Given the description of an element on the screen output the (x, y) to click on. 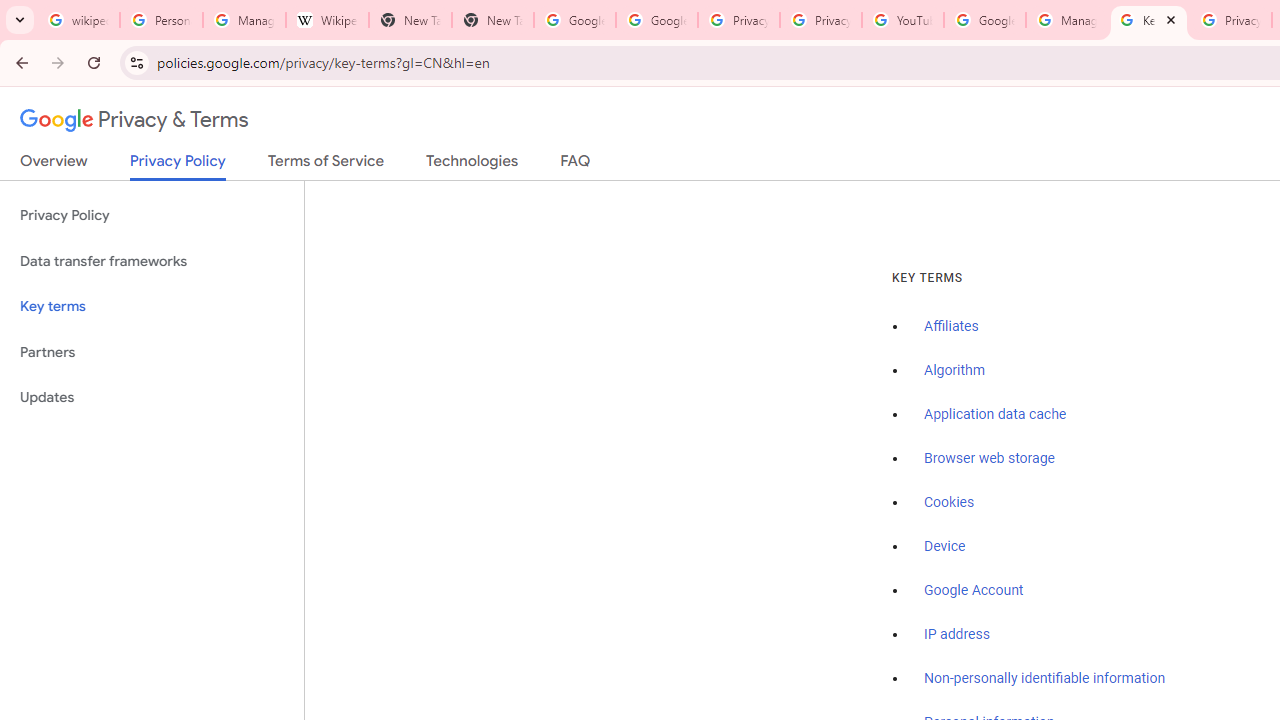
Browser web storage (989, 459)
Device (945, 546)
New Tab (409, 20)
Manage your Location History - Google Search Help (244, 20)
Wikipedia:Edit requests - Wikipedia (326, 20)
